Given the description of an element on the screen output the (x, y) to click on. 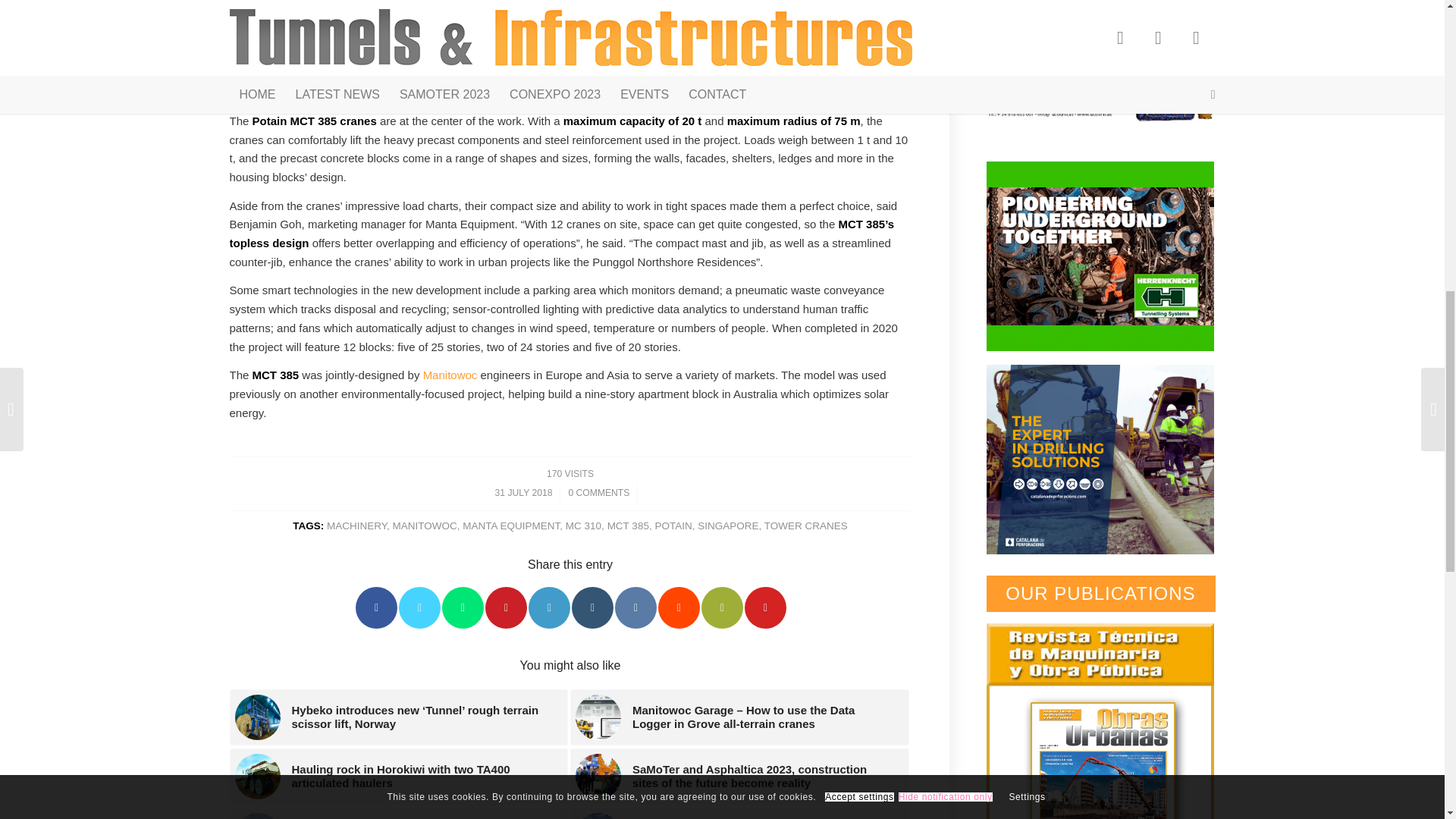
0 COMMENTS (597, 492)
Manitowoc (450, 374)
MANTA EQUIPMENT (511, 525)
TOWER CRANES (805, 525)
MCT 385 (628, 525)
MC 310 (583, 525)
MACHINERY (356, 525)
SINGAPORE (727, 525)
POTAIN (672, 525)
MANITOWOC (425, 525)
